Given the description of an element on the screen output the (x, y) to click on. 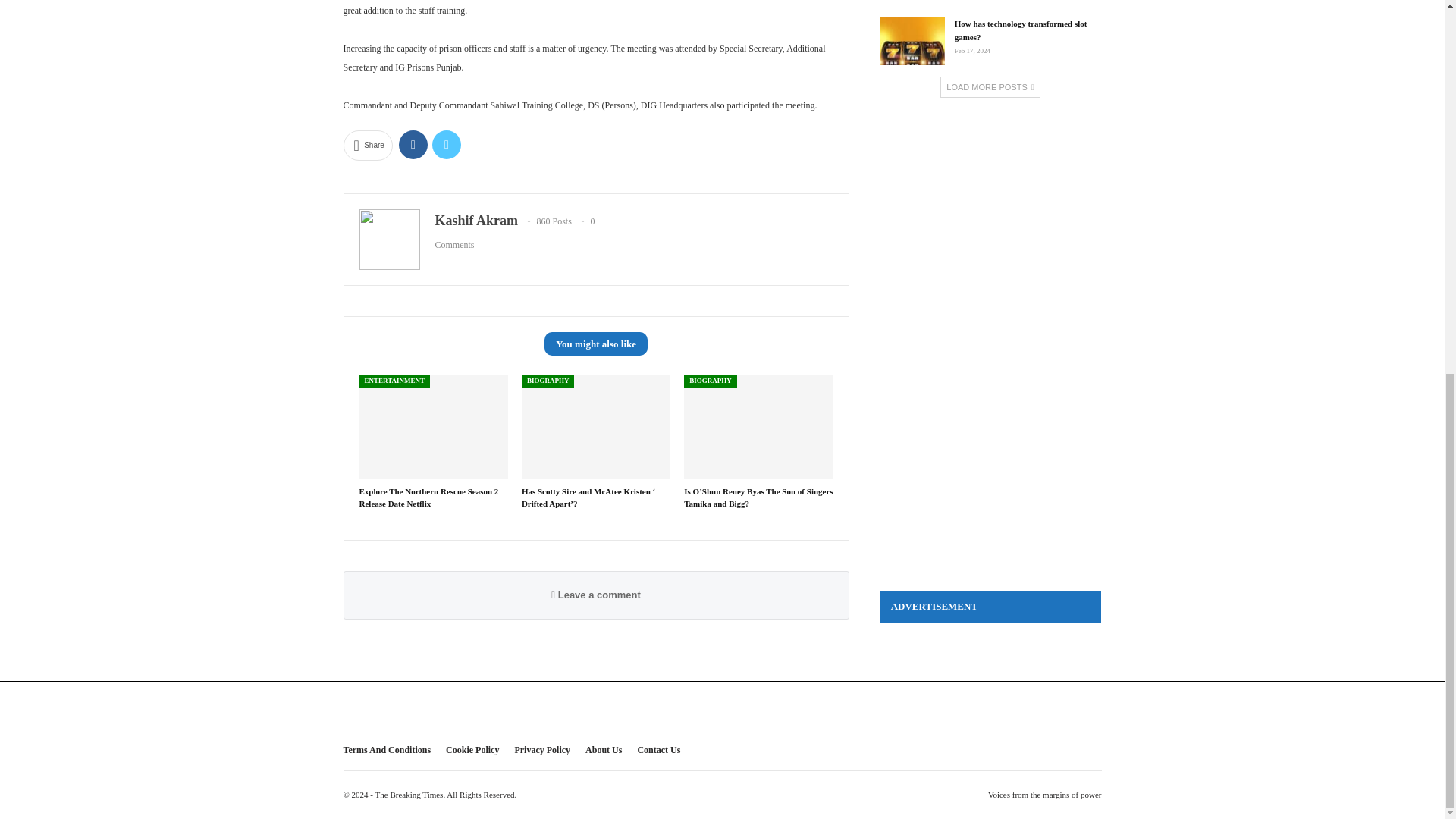
BIOGRAPHY (710, 380)
Kashif Akram (476, 220)
ENTERTAINMENT (394, 380)
Leave a comment (595, 594)
BIOGRAPHY (548, 380)
Explore The Northern Rescue Season 2 Release Date Netflix  (429, 496)
